Given the description of an element on the screen output the (x, y) to click on. 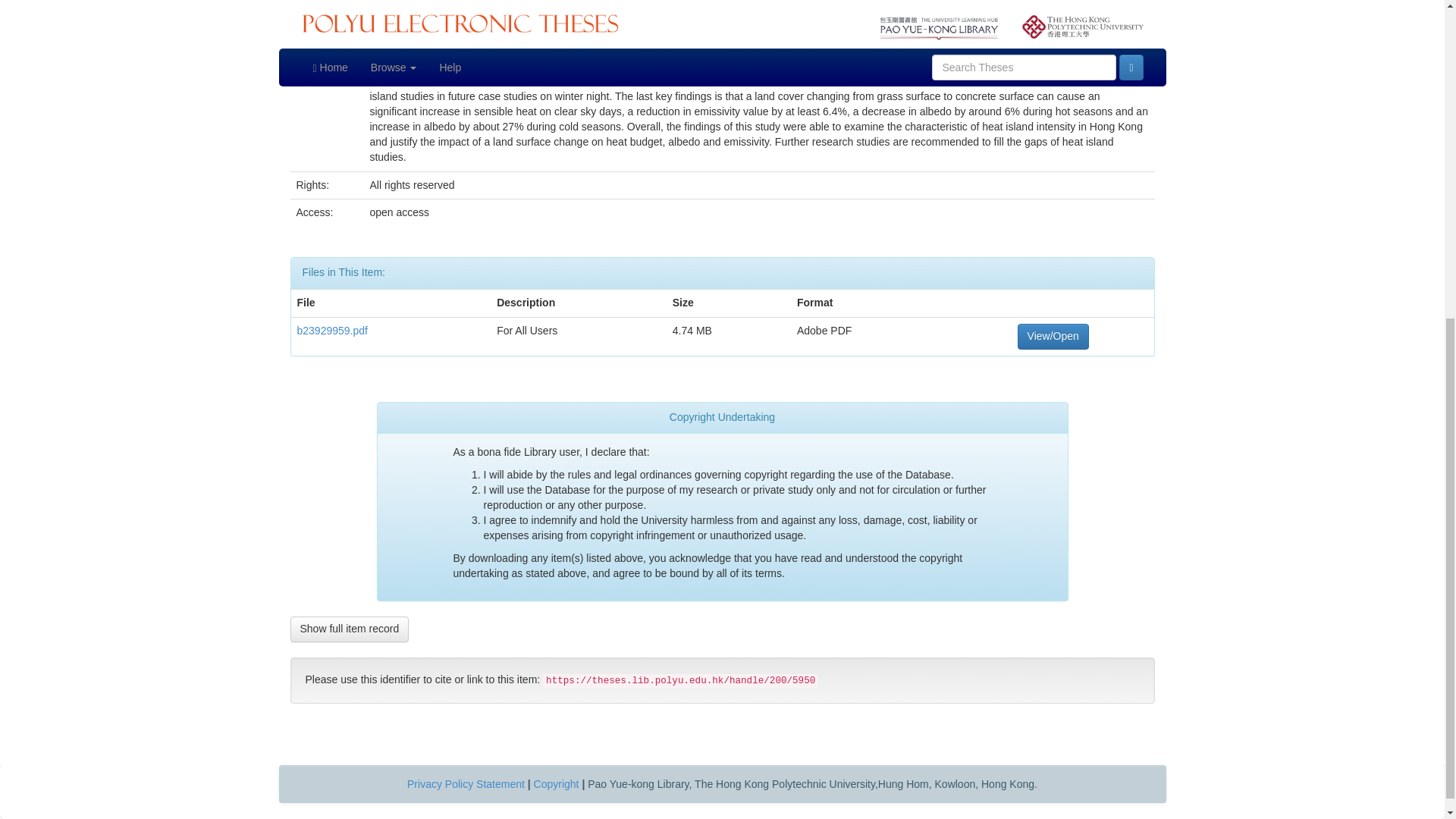
Show full item record (349, 629)
Copyright (556, 784)
b23929959.pdf (332, 330)
Privacy Policy Statement (465, 784)
